Given the description of an element on the screen output the (x, y) to click on. 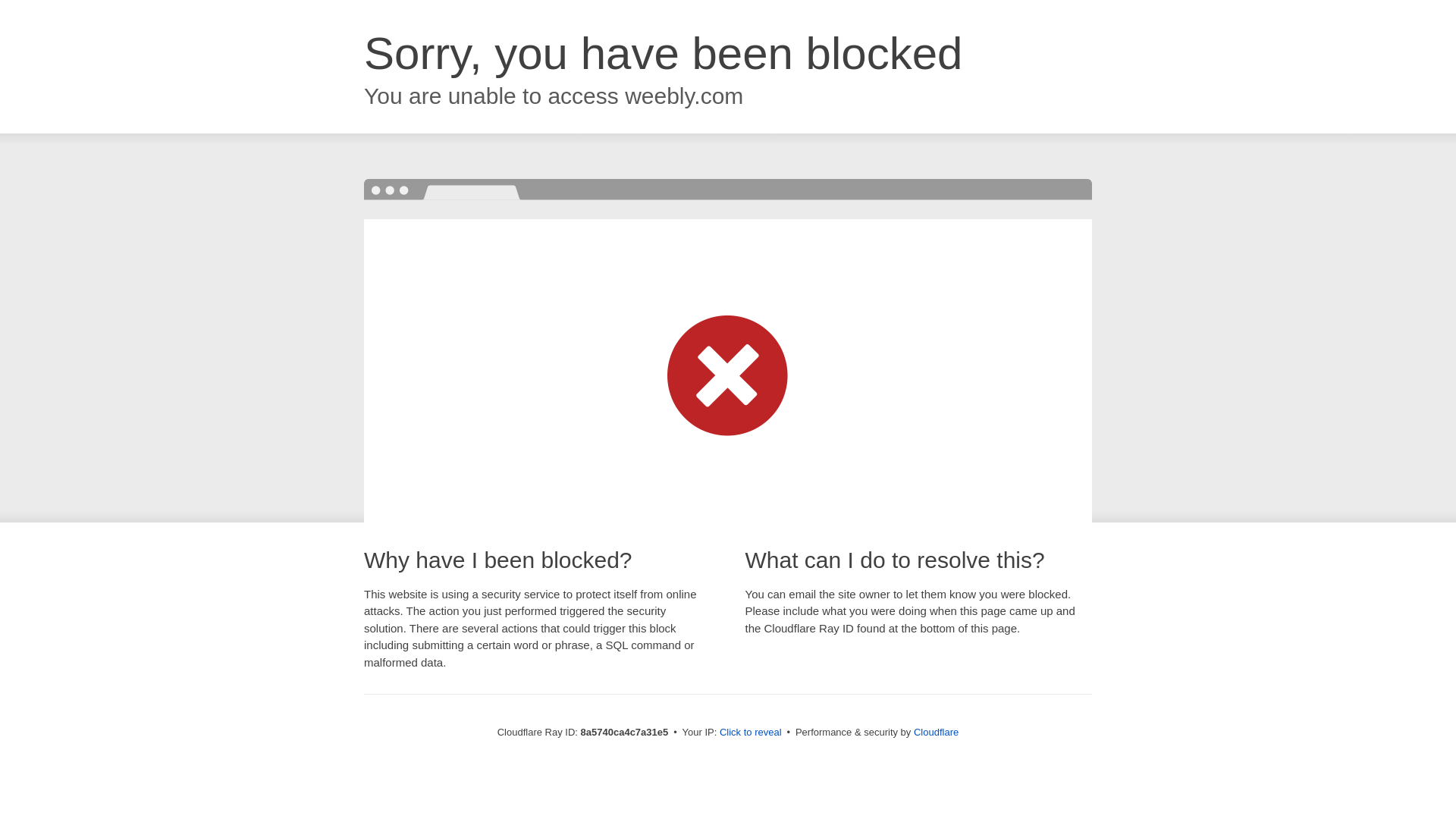
Click to reveal (750, 732)
Cloudflare (936, 731)
